Given the description of an element on the screen output the (x, y) to click on. 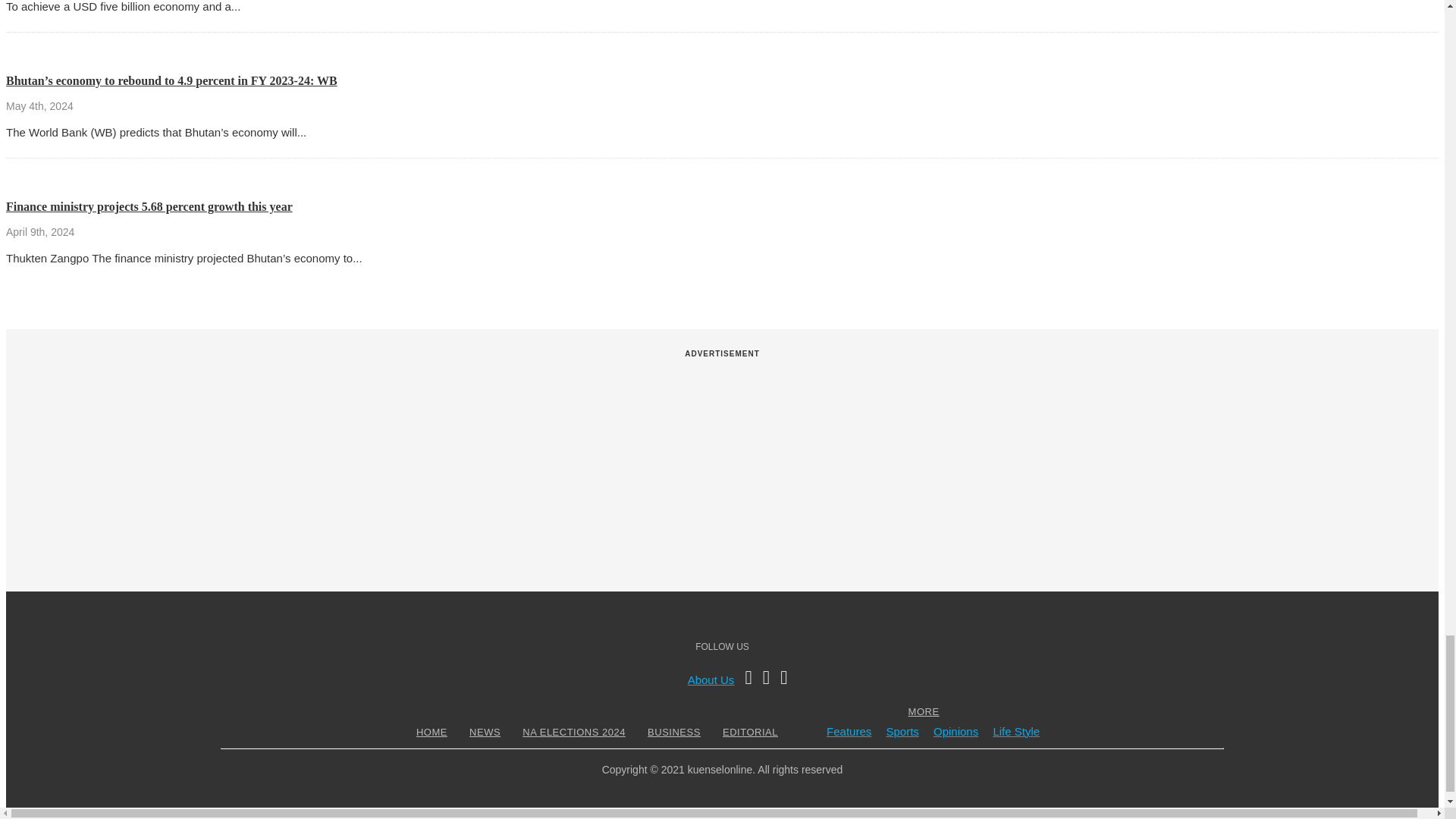
Finance ministry projects 5.68 percent growth this year (148, 205)
MORE (923, 711)
BUSINESS (673, 731)
About Us (711, 679)
EDITORIAL (750, 731)
NEWS (484, 731)
HOME (431, 731)
NA ELECTIONS 2024 (573, 731)
